Given the description of an element on the screen output the (x, y) to click on. 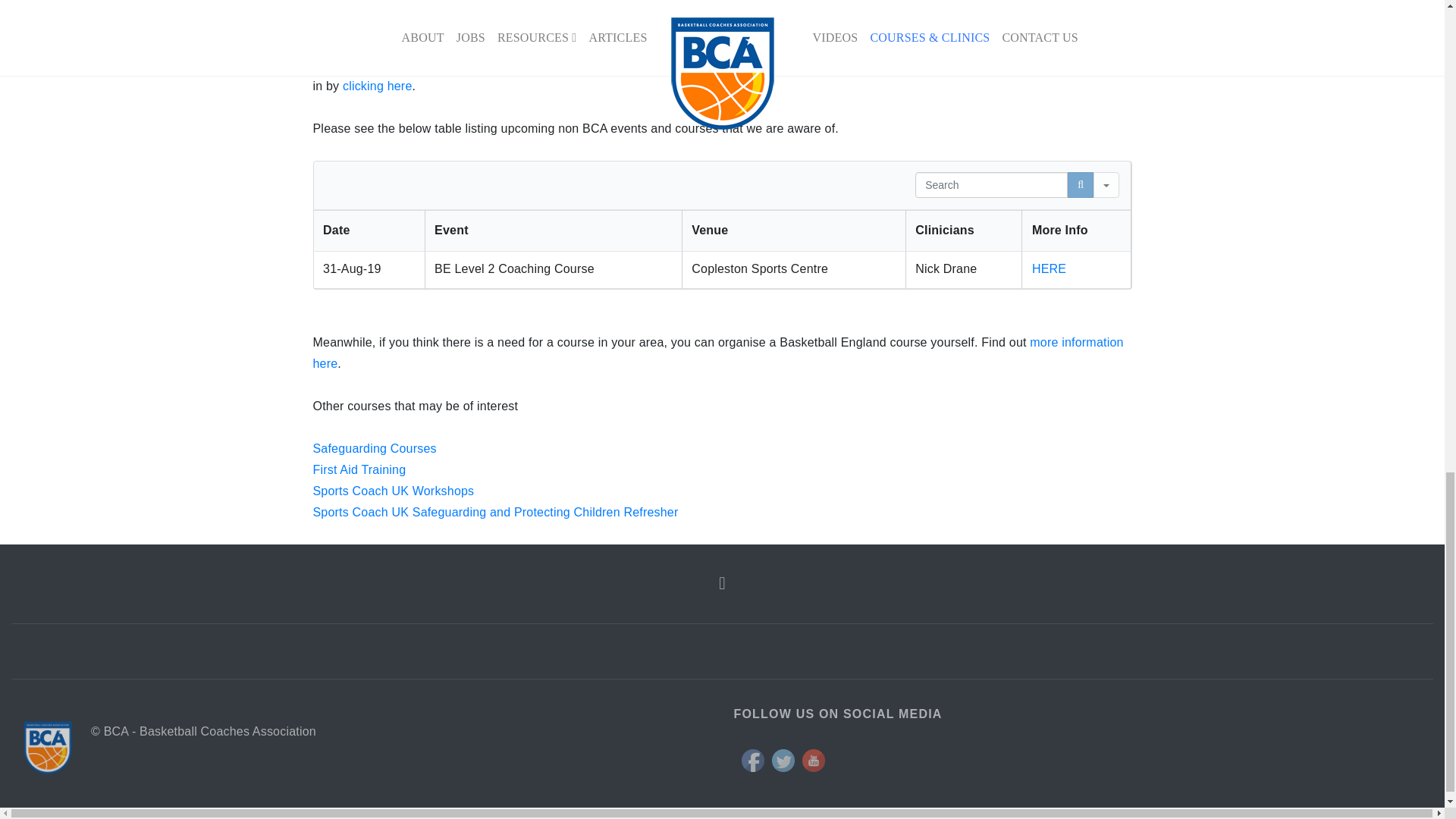
Search in (1106, 184)
Facebook (752, 760)
YouTube (813, 760)
Sports Coach UK Workshops (393, 490)
Safeguarding Courses (374, 448)
clicking here (377, 85)
Twitter (782, 760)
First Aid Training (359, 469)
HERE (1048, 268)
more information here (717, 352)
Search (1080, 184)
